Given the description of an element on the screen output the (x, y) to click on. 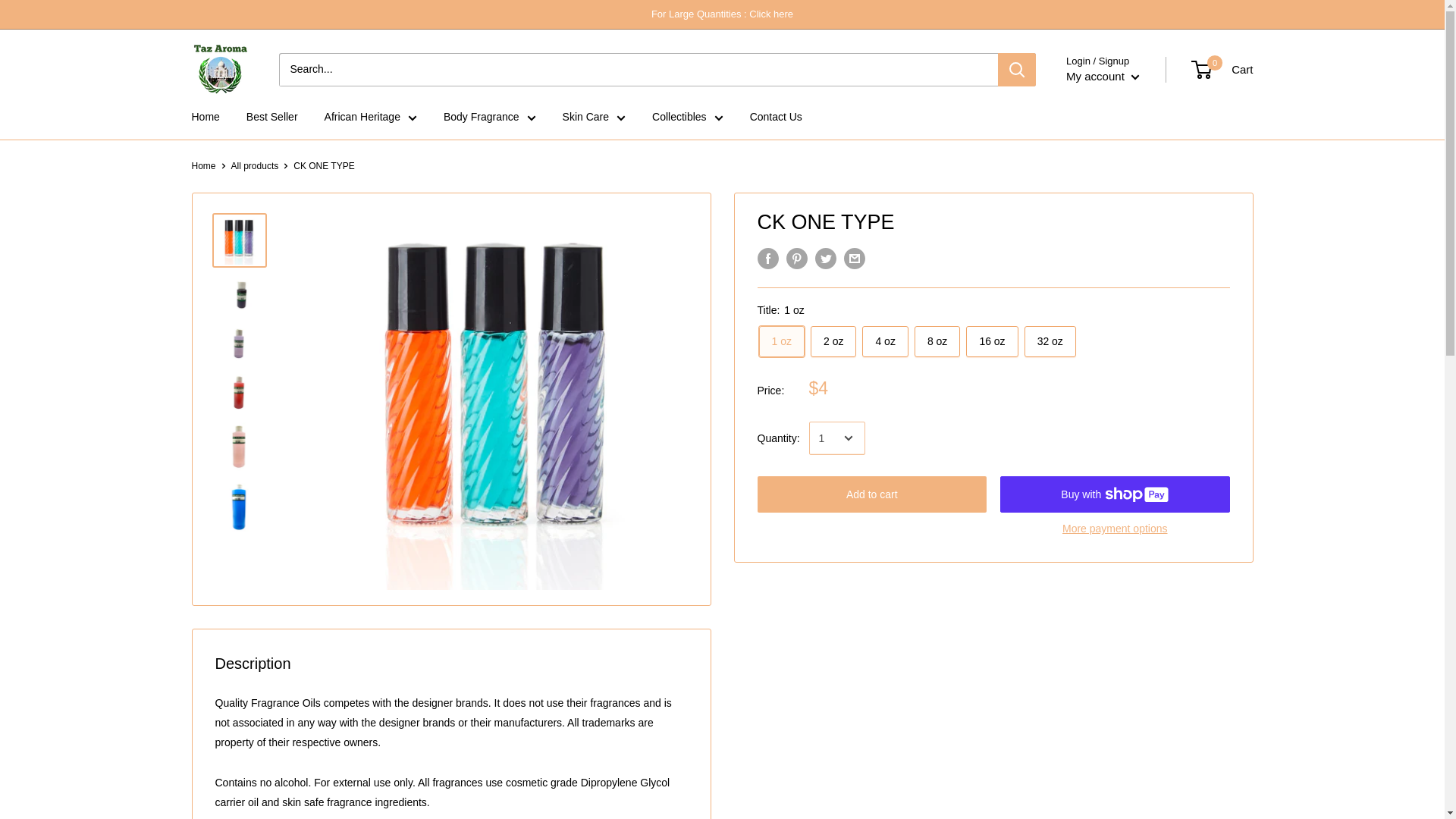
1 oz (780, 341)
16 oz (991, 341)
2 oz (833, 341)
For Large Quantities : Click here (721, 14)
8 oz (936, 341)
4 oz (884, 341)
32 oz (1050, 341)
